Given the description of an element on the screen output the (x, y) to click on. 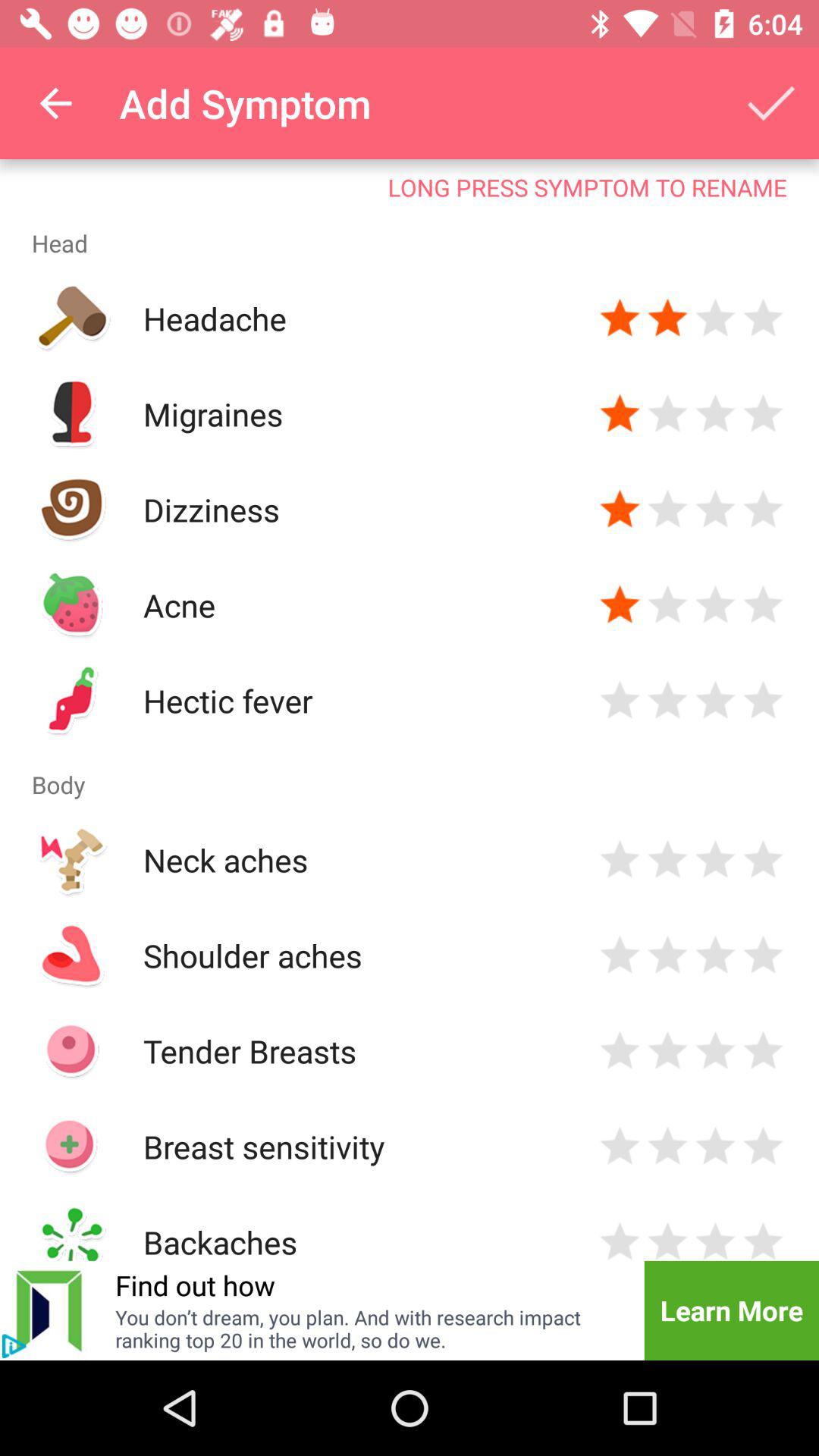
choose symptom severity (715, 509)
